Given the description of an element on the screen output the (x, y) to click on. 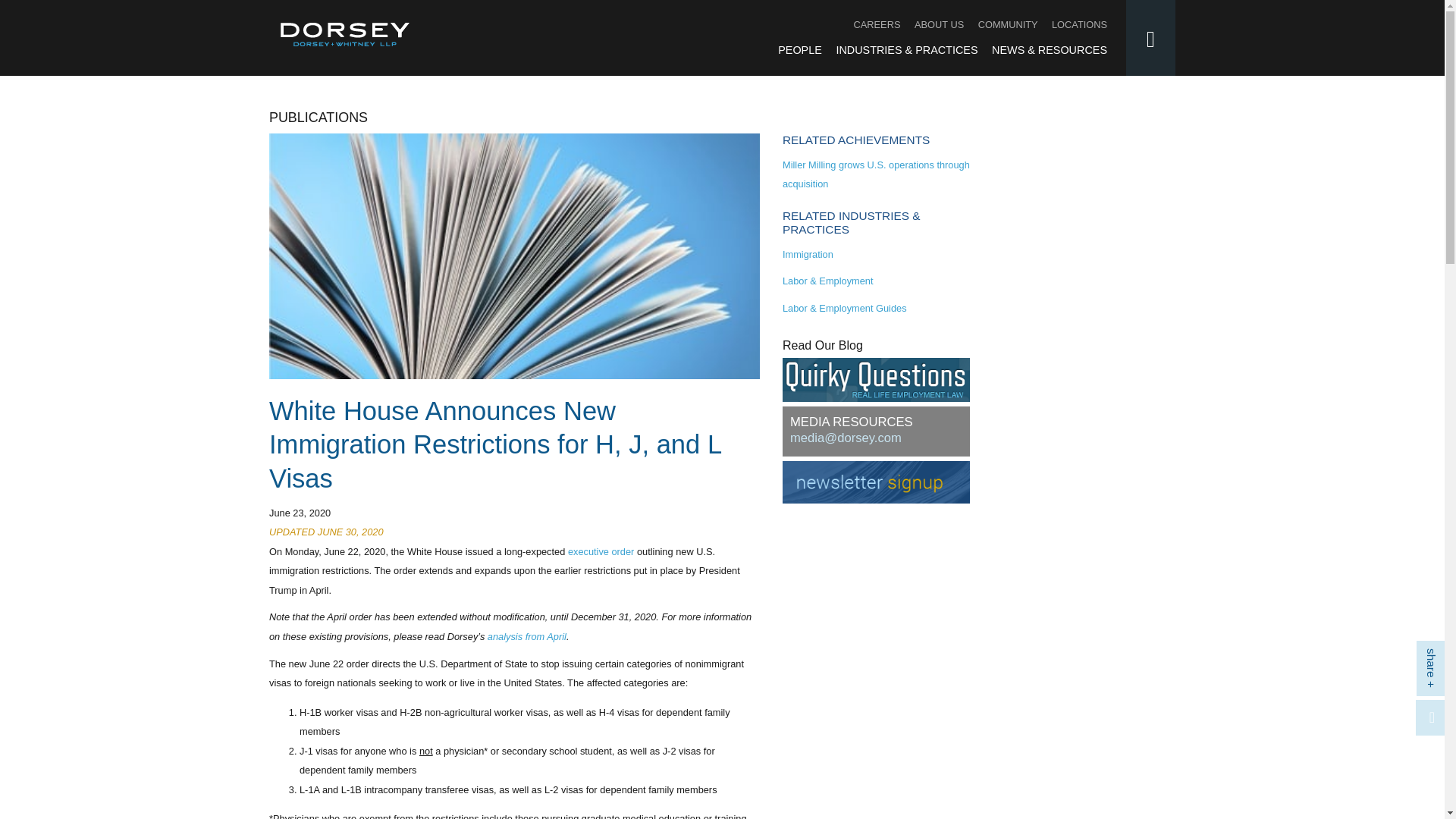
COMMUNITY (1008, 24)
Miller Milling grows U.S. operations through acquisition (876, 174)
PEOPLE (799, 50)
ABOUT US (938, 24)
analysis from April (526, 636)
CAREERS (877, 24)
executive order (600, 551)
LOCATIONS (1078, 24)
Immigration (807, 254)
